Given the description of an element on the screen output the (x, y) to click on. 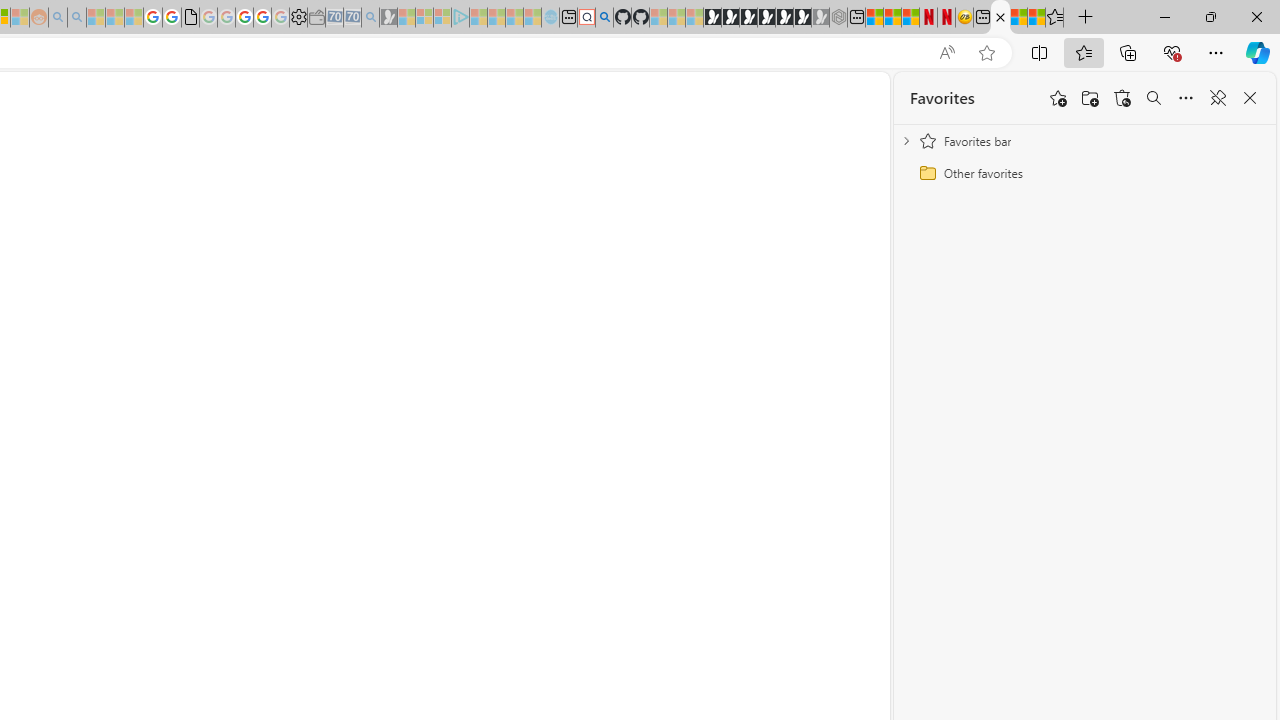
Unpin favorites (1217, 98)
Add this page to favorites (1058, 98)
